Given the description of an element on the screen output the (x, y) to click on. 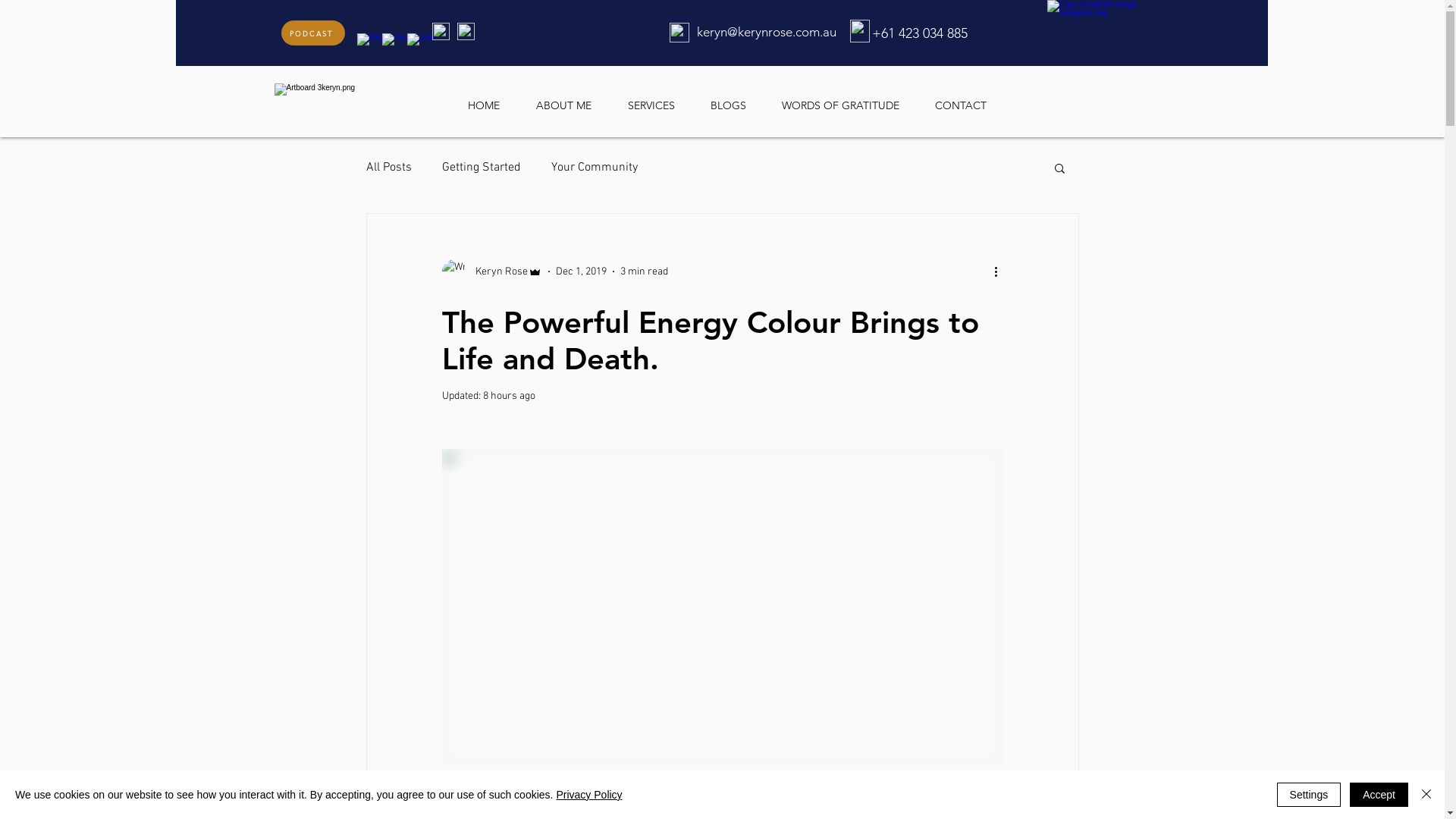
Your Community Element type: text (593, 167)
All Posts Element type: text (388, 167)
BLOGS Element type: text (739, 98)
HOME Element type: text (495, 98)
ABOUT ME Element type: text (575, 98)
+61 423 034 885 Element type: text (919, 32)
SERVICES Element type: text (662, 98)
Privacy Policy Element type: text (588, 794)
PODCAST Element type: text (312, 32)
Getting Started Element type: text (480, 167)
keryn@kerynrose.com.au Element type: text (765, 31)
WORDS OF GRATITUDE Element type: text (851, 98)
CONTACT Element type: text (971, 98)
Keryn Rose Element type: text (491, 271)
Settings Element type: text (1309, 794)
Accept Element type: text (1378, 794)
